Given the description of an element on the screen output the (x, y) to click on. 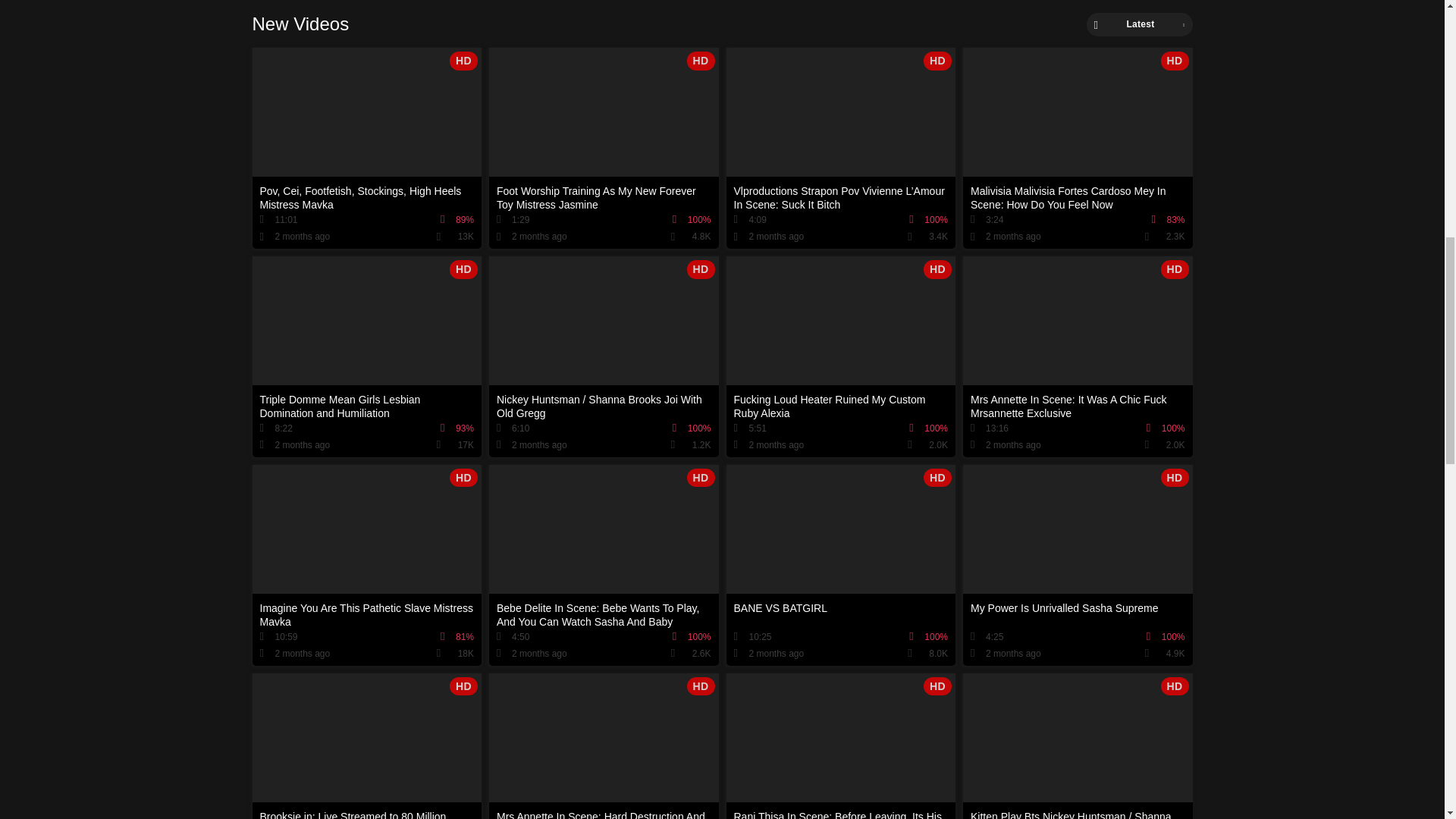
Fucking Loud Heater Ruined My Custom Ruby Alexia (841, 356)
Foot Worship Training As My New Forever Toy Mistress Jasmine (604, 147)
Pov, Cei, Footfetish, Stockings, High Heels Mistress Mavka (366, 147)
Triple Domme Mean Girls Lesbian Domination and Humiliation (366, 356)
